Given the description of an element on the screen output the (x, y) to click on. 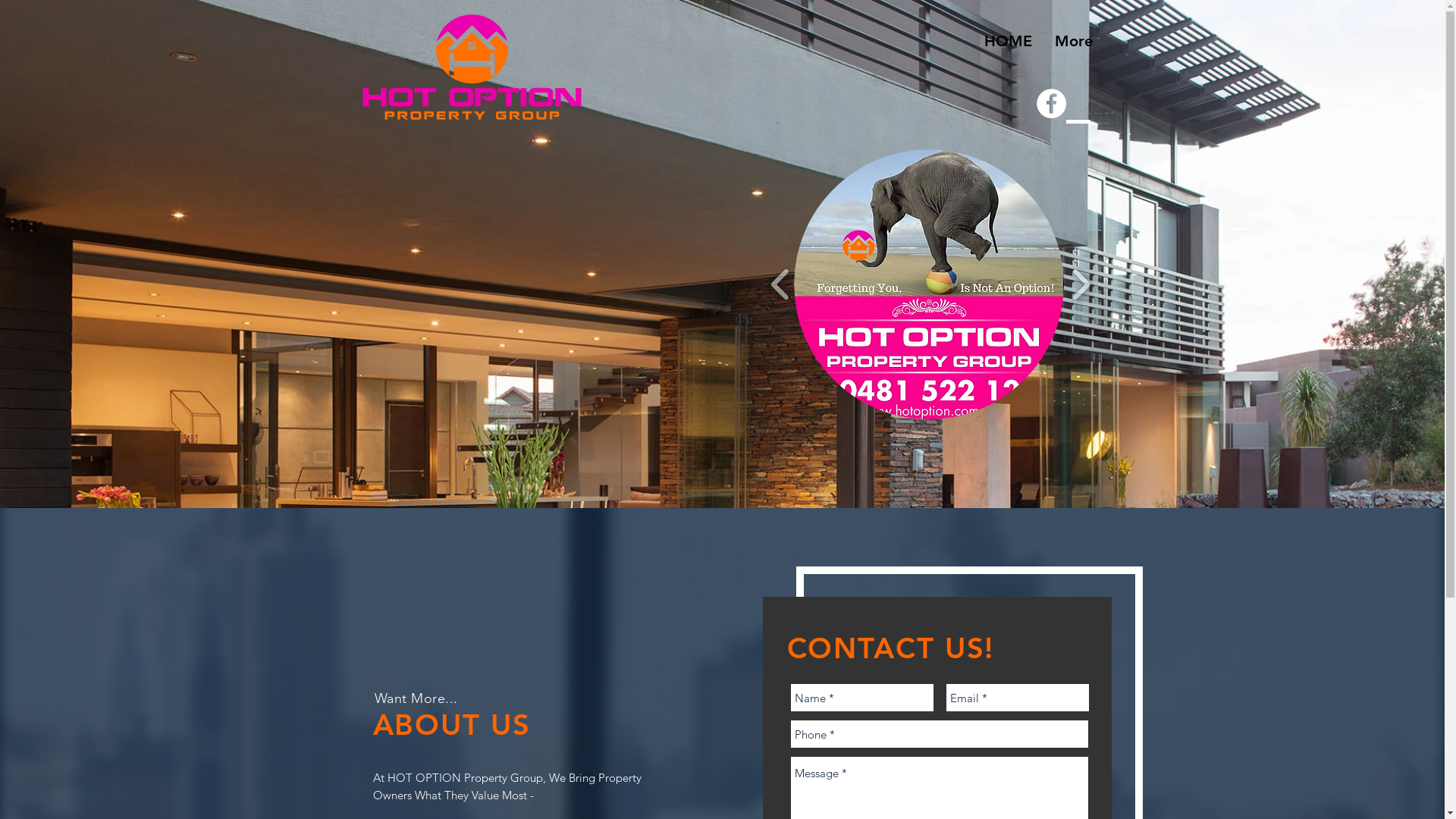
HOME Element type: text (1007, 40)
Real Estate Sales & Property Management Element type: hover (471, 67)
